Given the description of an element on the screen output the (x, y) to click on. 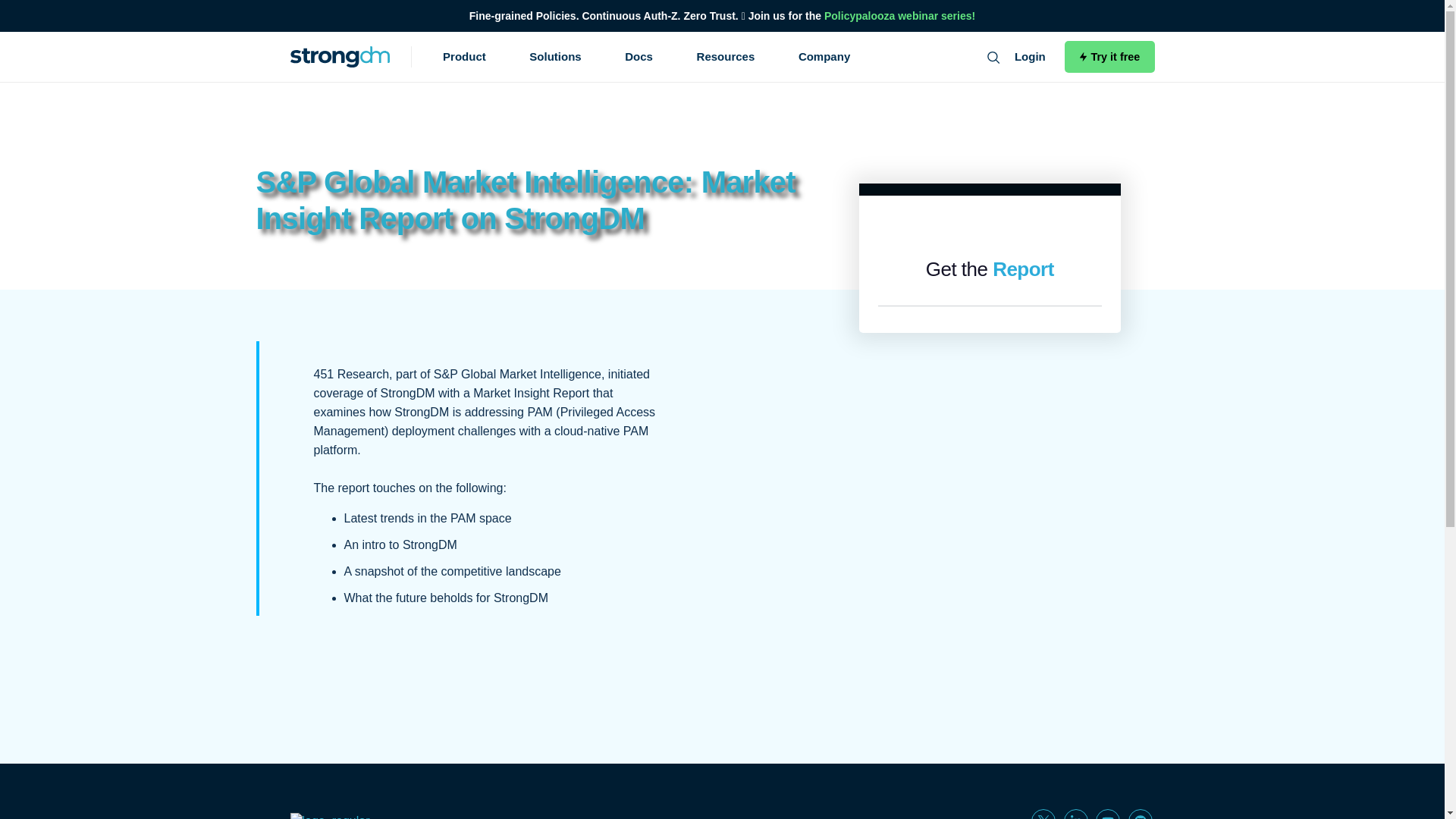
Docs (638, 56)
Product (464, 56)
Resources (726, 56)
Policypalooza webinar series! (899, 15)
Solutions (554, 56)
strongDM logo (339, 56)
